Given the description of an element on the screen output the (x, y) to click on. 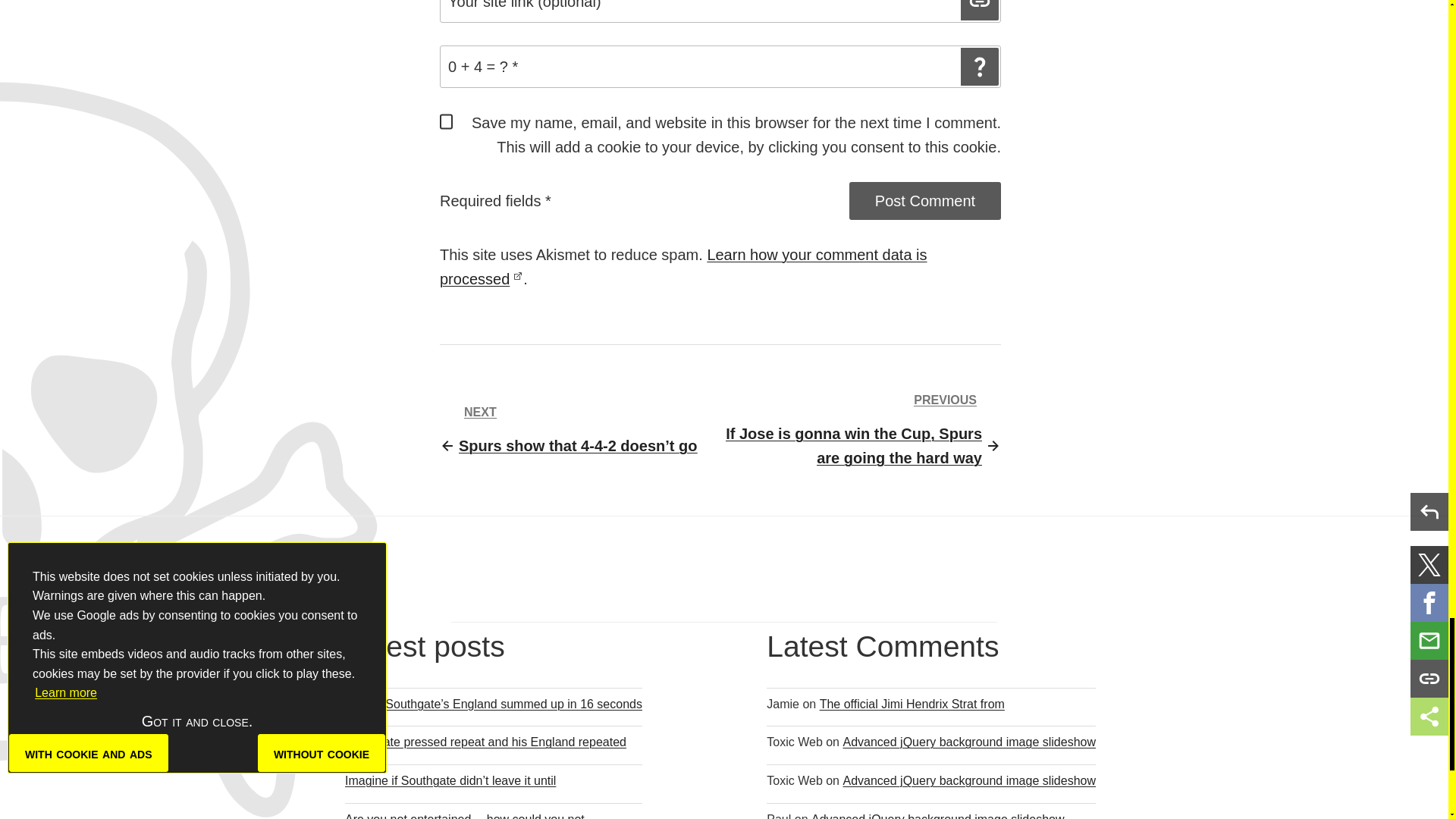
on (445, 187)
yes (445, 121)
Learn how your comment data is processed (683, 266)
Post Comment (924, 200)
